Given the description of an element on the screen output the (x, y) to click on. 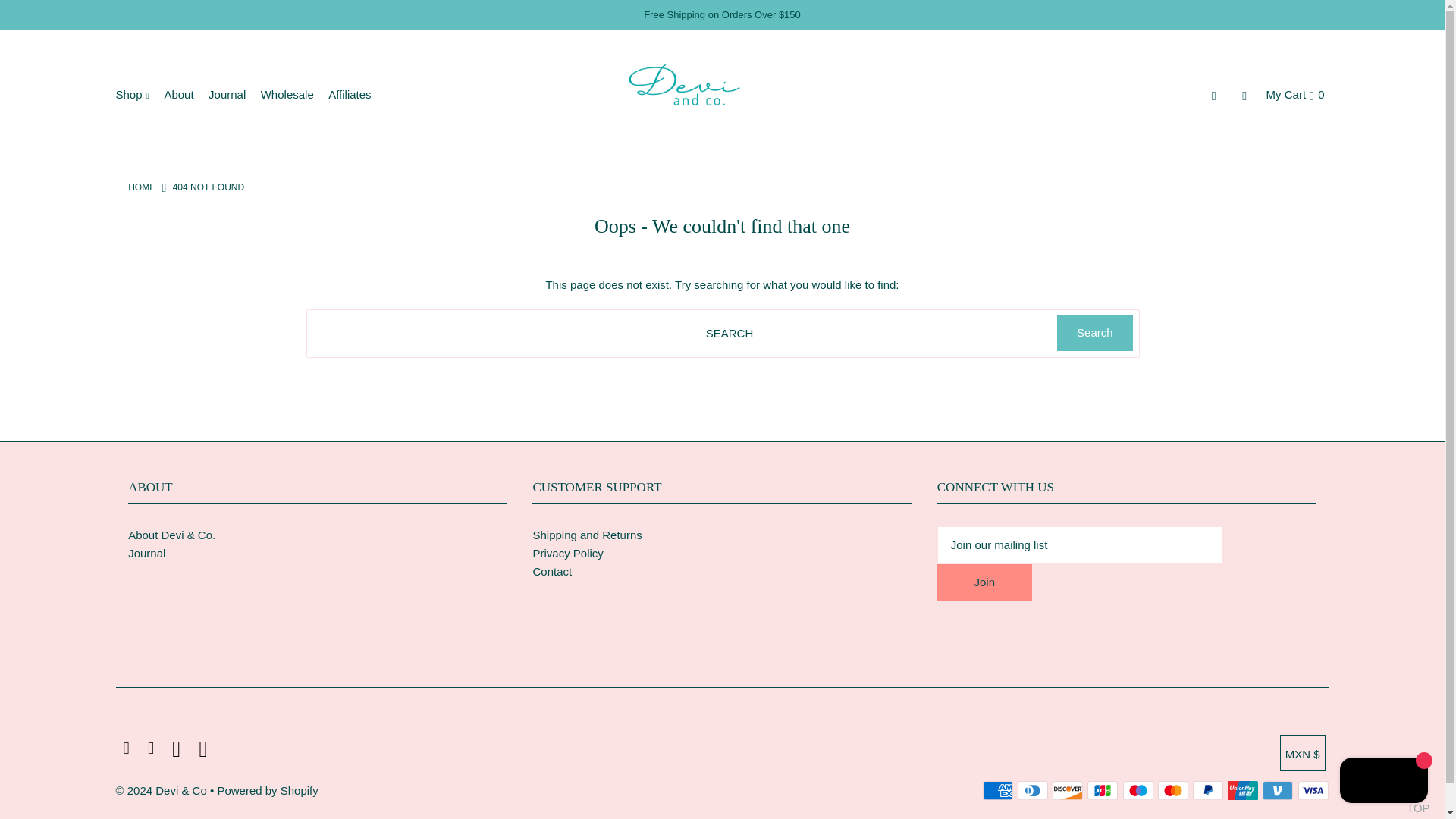
Union Pay (1242, 790)
Shop (137, 93)
About (184, 93)
Affiliates (355, 93)
HOME (141, 186)
PayPal (1207, 790)
Shopify online store chat (1383, 781)
Search (1094, 332)
Journal (232, 93)
Wholesale (292, 93)
Venmo (1277, 790)
My Cart0 (1295, 94)
Visa (1312, 790)
Search (1094, 332)
Join (984, 582)
